Given the description of an element on the screen output the (x, y) to click on. 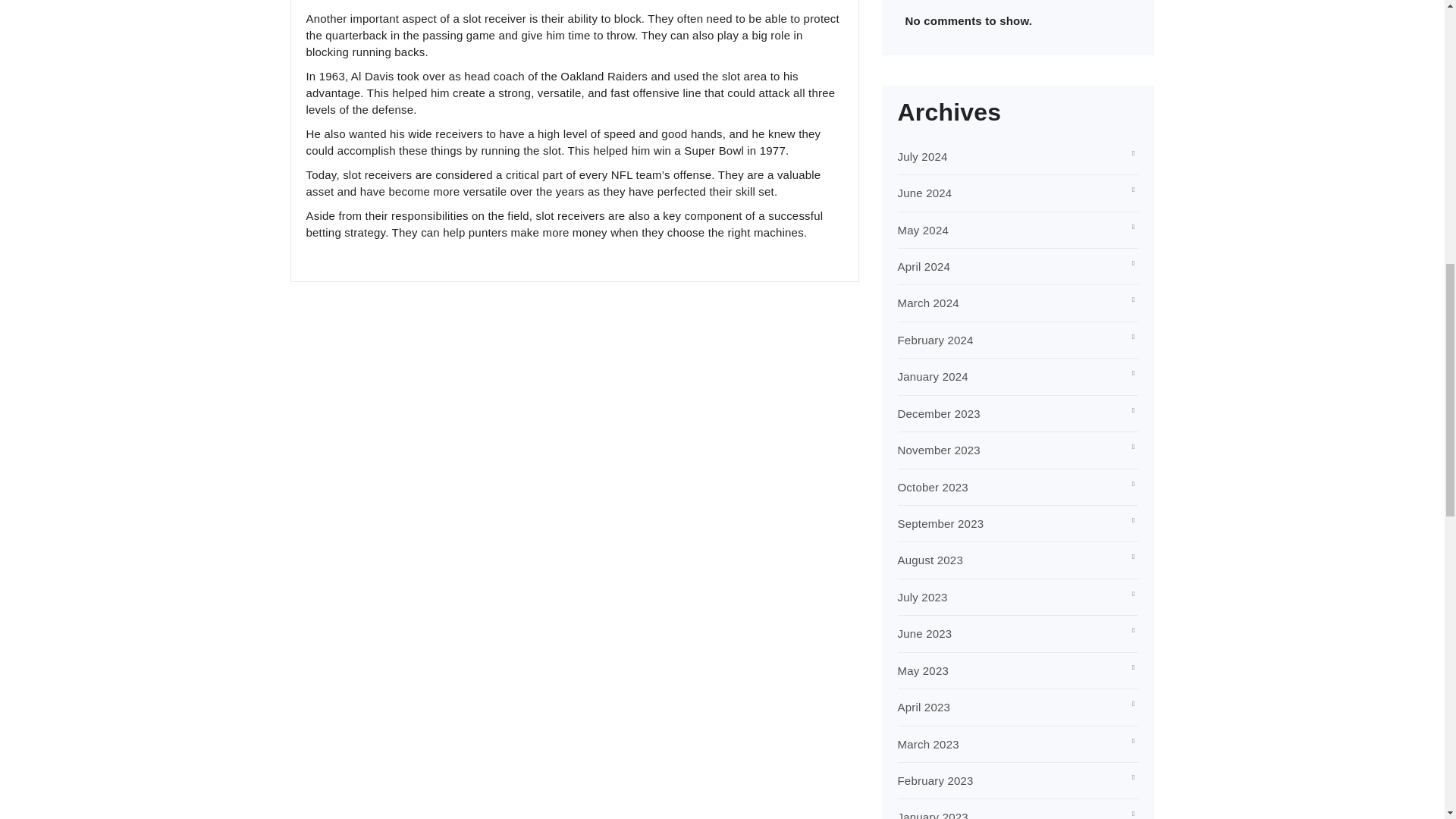
February 2024 (936, 339)
October 2023 (933, 486)
December 2023 (938, 413)
March 2024 (928, 302)
July 2023 (922, 596)
April 2024 (924, 266)
May 2023 (923, 670)
November 2023 (938, 449)
August 2023 (930, 559)
July 2024 (922, 155)
